Given the description of an element on the screen output the (x, y) to click on. 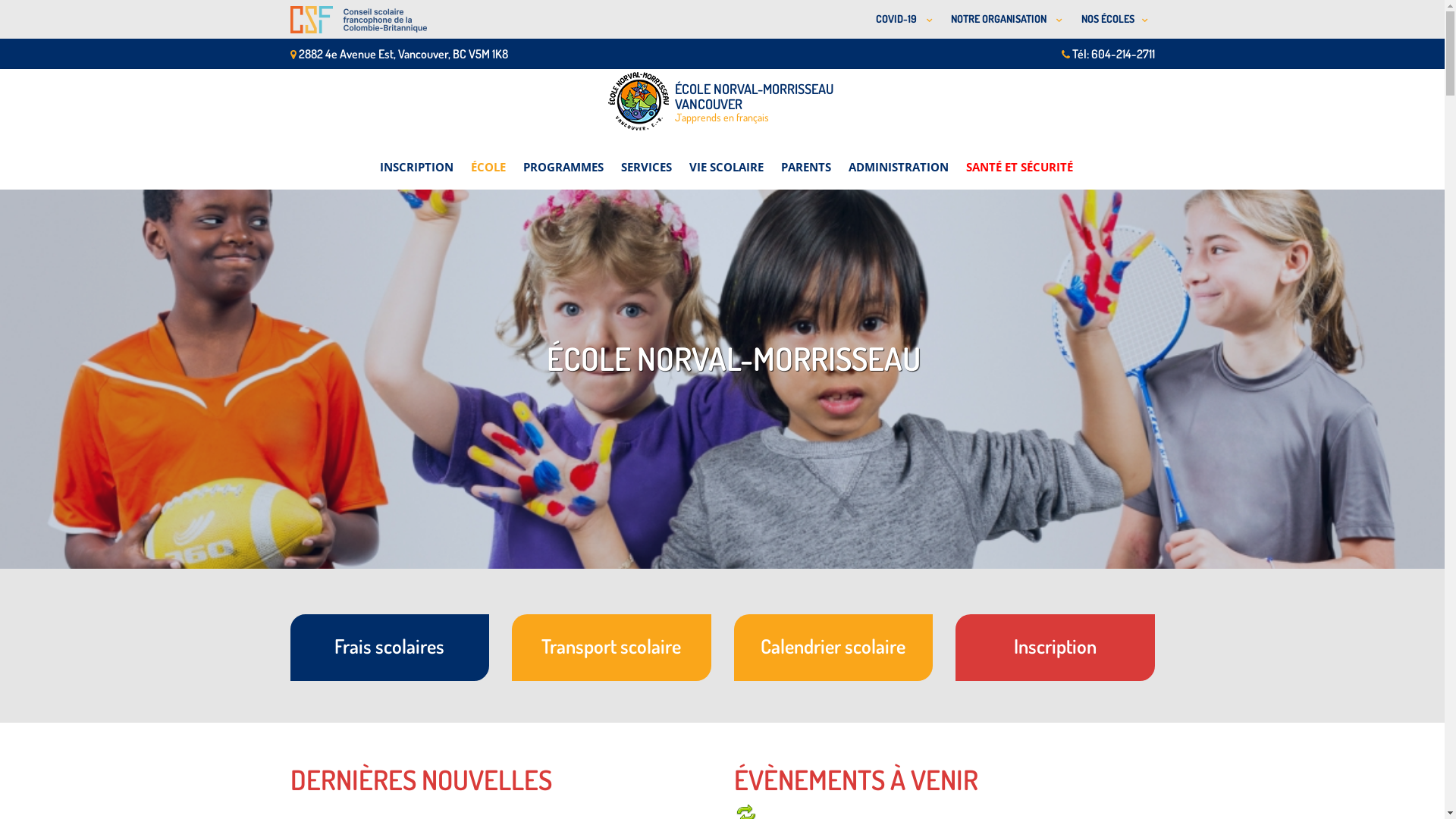
Inscription Element type: text (1054, 647)
ADMINISTRATION Element type: text (897, 158)
PARENTS Element type: text (806, 158)
PROGRAMMES Element type: text (563, 158)
INSCRIPTION Element type: text (415, 158)
Calendrier scolaire Element type: text (833, 647)
NOTRE ORGANISATION  Element type: text (1004, 19)
VIE SCOLAIRE Element type: text (725, 158)
Transport scolaire Element type: text (611, 647)
COVID-19  Element type: text (900, 19)
Frais scolaires Element type: text (389, 647)
SERVICES Element type: text (645, 158)
